Given the description of an element on the screen output the (x, y) to click on. 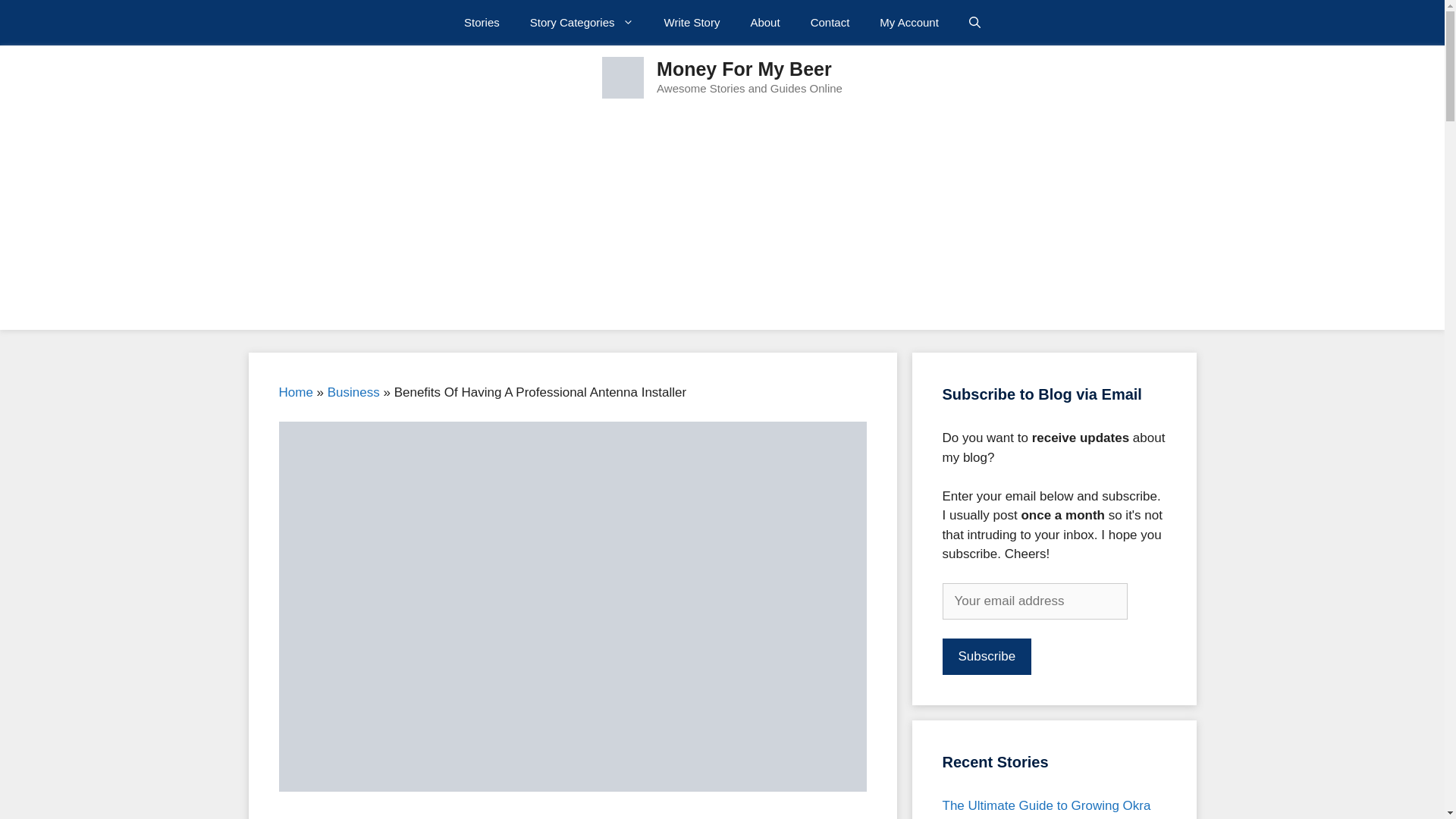
Stories (481, 22)
Contact (829, 22)
Home (296, 391)
Money For My Beer (743, 68)
Write Story (692, 22)
Business (353, 391)
About (764, 22)
My Account (908, 22)
